Given the description of an element on the screen output the (x, y) to click on. 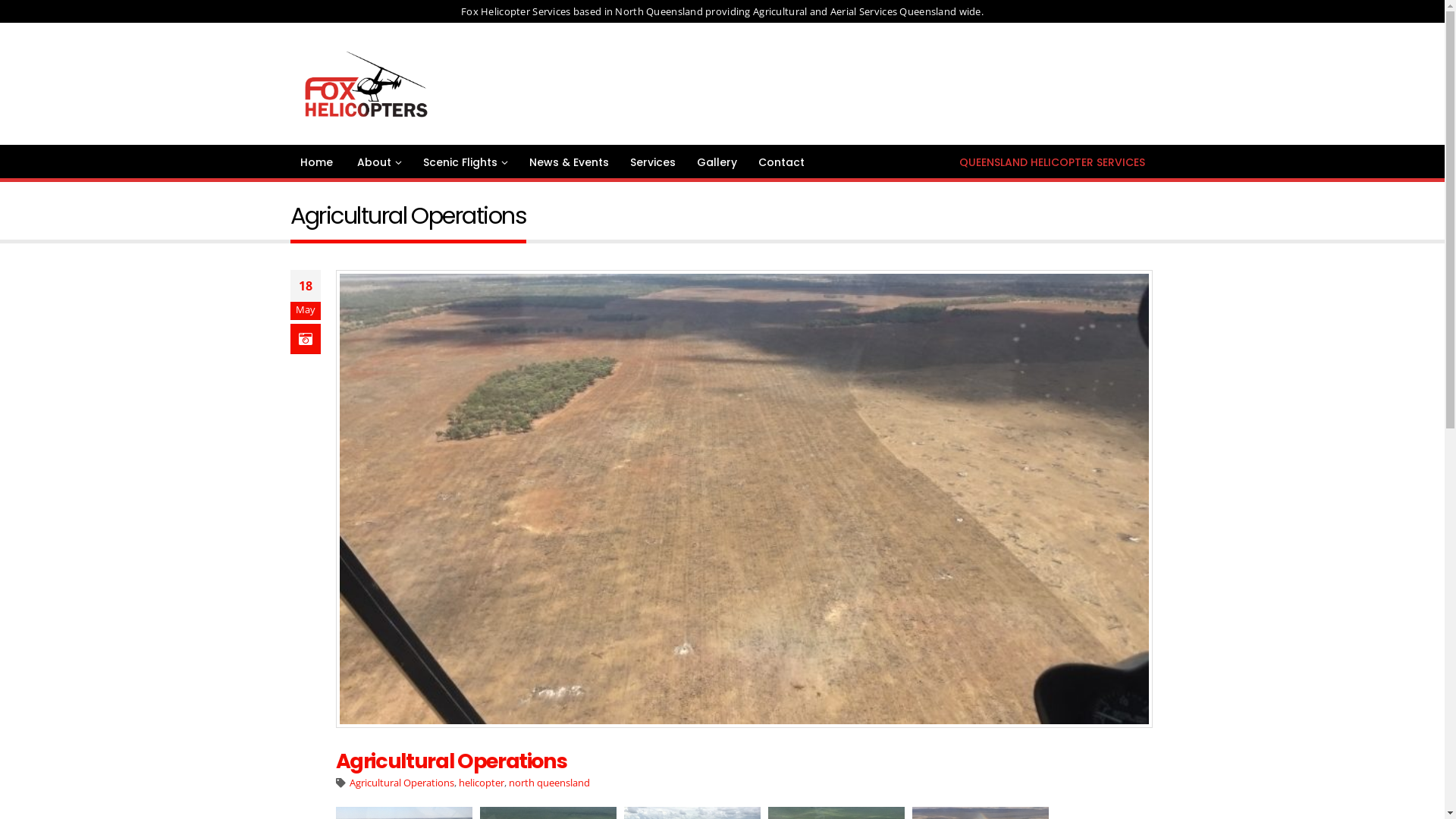
helicopter Element type: text (481, 782)
Scenic Flights Element type: text (464, 161)
 About Element type: text (377, 161)
Agricultural Operations Element type: text (401, 782)
Home Element type: text (315, 161)
Gallery Element type: text (716, 161)
Services Element type: text (652, 161)
Contact Element type: text (780, 161)
News & Events Element type: text (568, 161)
north queensland Element type: text (548, 782)
